Given the description of an element on the screen output the (x, y) to click on. 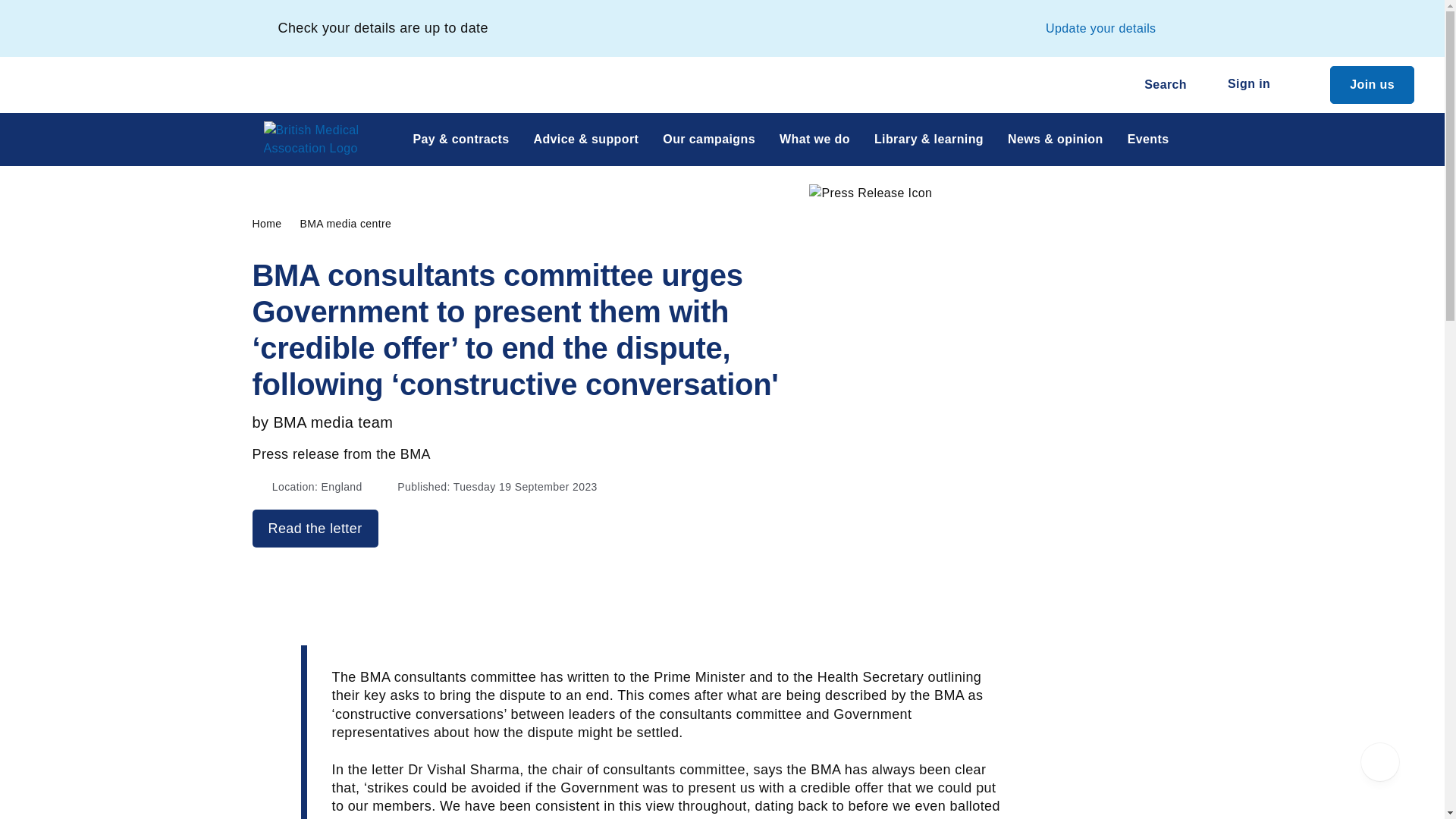
Read the letter (314, 528)
Update your details (1100, 28)
Join us (1371, 85)
Sign in (1257, 85)
